Given the description of an element on the screen output the (x, y) to click on. 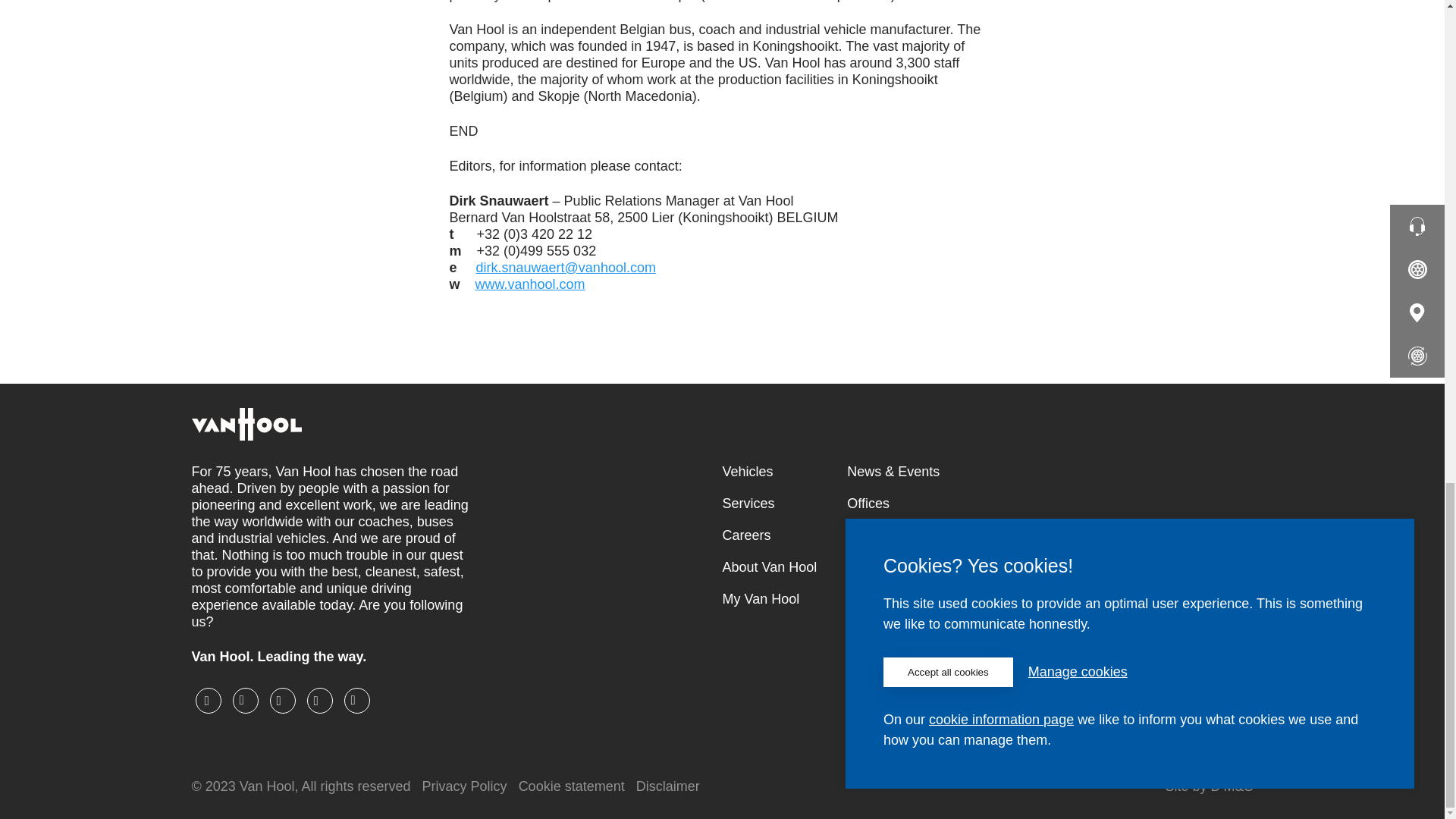
Disclaimer (668, 786)
Careers (769, 535)
Vehicles (769, 471)
Cookie statement (571, 786)
Privacy Policy (464, 786)
Contact (964, 566)
Offices (964, 503)
Sales outlets (964, 535)
www.vanhool.com (530, 283)
About Van Hool (769, 566)
Services (769, 503)
My Van Hool (769, 598)
